Given the description of an element on the screen output the (x, y) to click on. 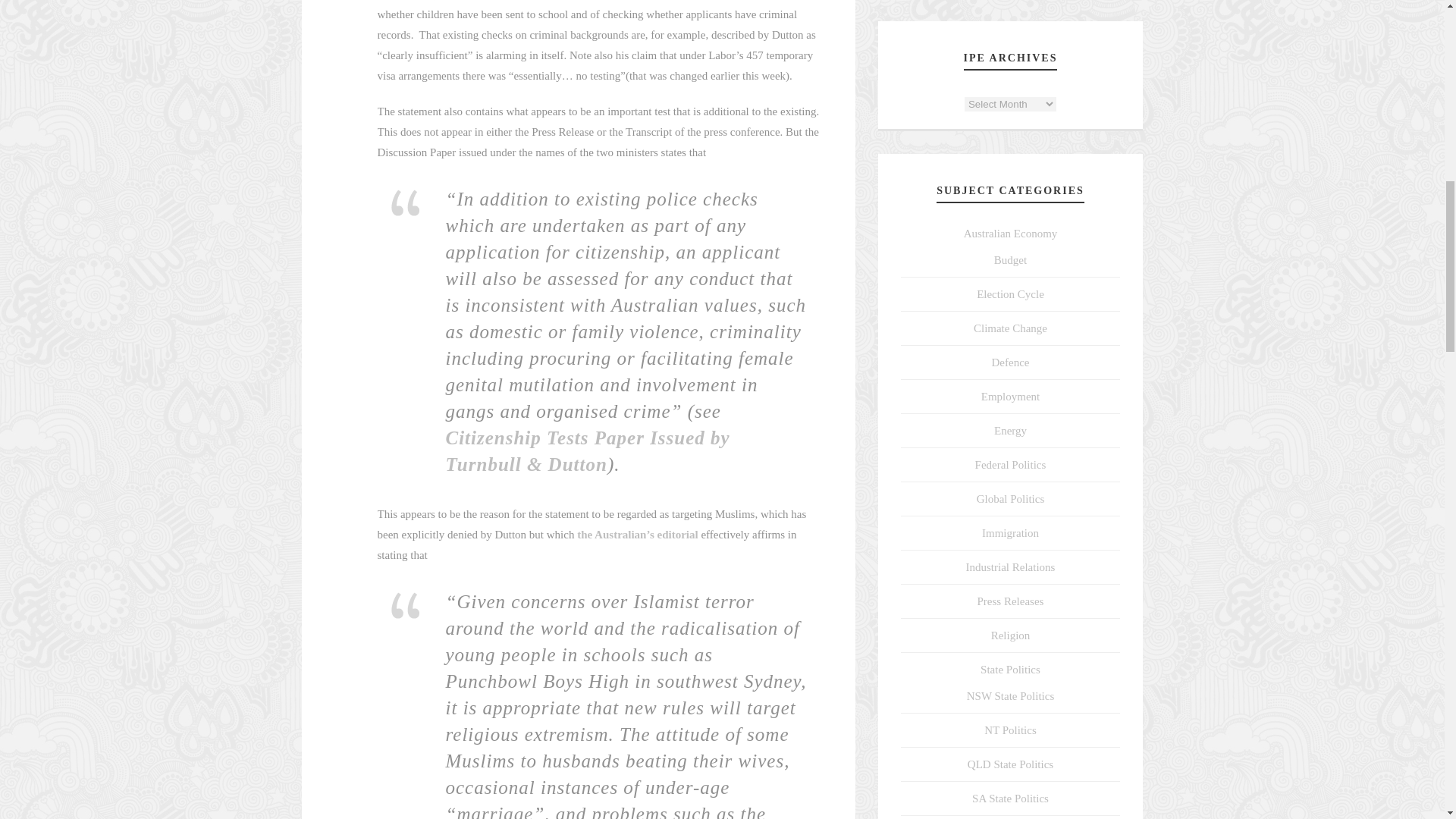
Budget (1010, 259)
Employment (1011, 396)
Australian Economy (1010, 233)
Federal Politics (1010, 464)
Energy (1010, 430)
Election Cycle (1009, 294)
Defence (1010, 362)
Climate Change (1010, 328)
